Given the description of an element on the screen output the (x, y) to click on. 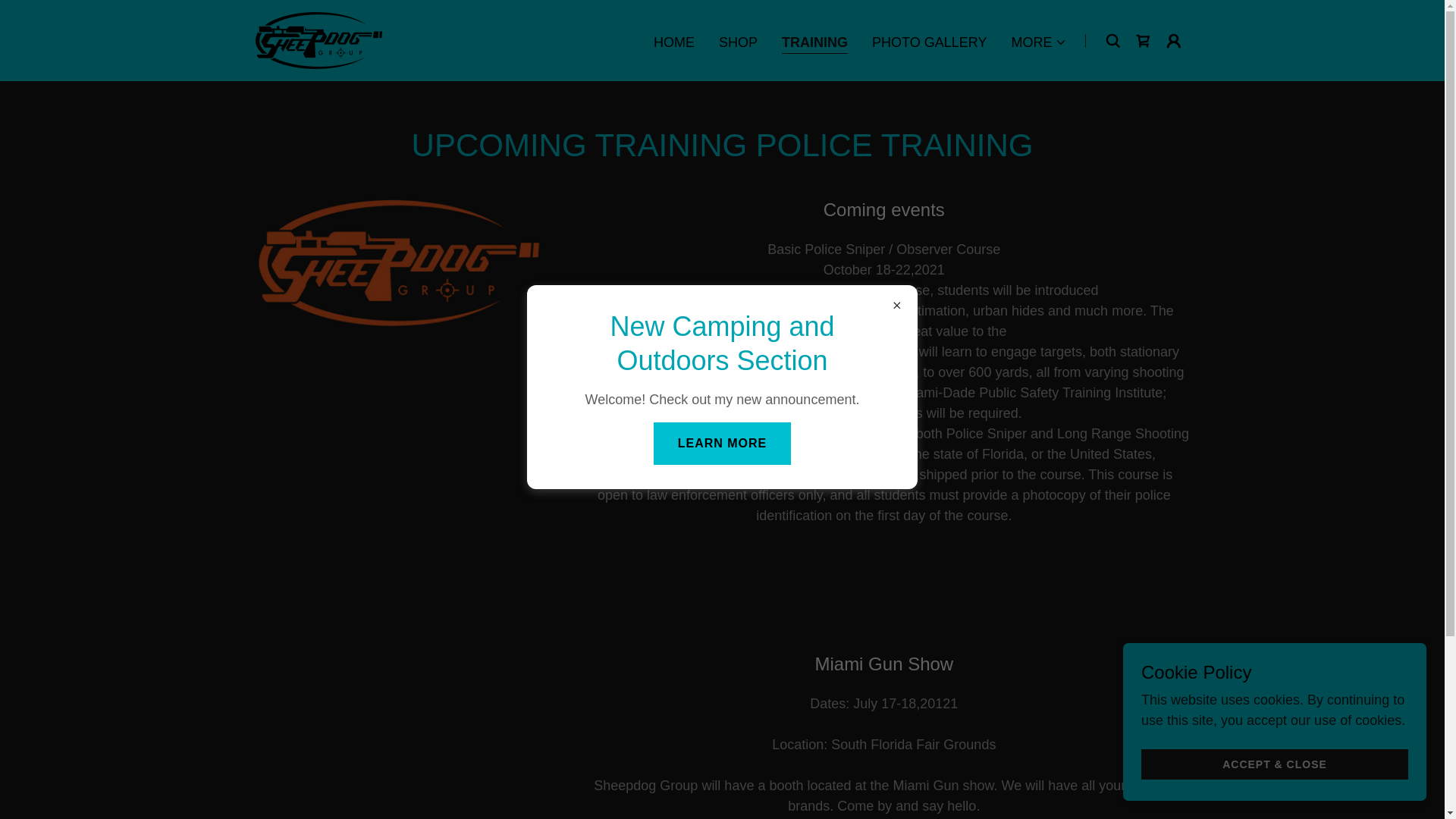
Guiding You to the next step (317, 38)
HOME (673, 42)
MORE (1038, 42)
LEARN MORE (722, 442)
SHOP (737, 42)
TRAINING (814, 43)
PHOTO GALLERY (929, 42)
